Given the description of an element on the screen output the (x, y) to click on. 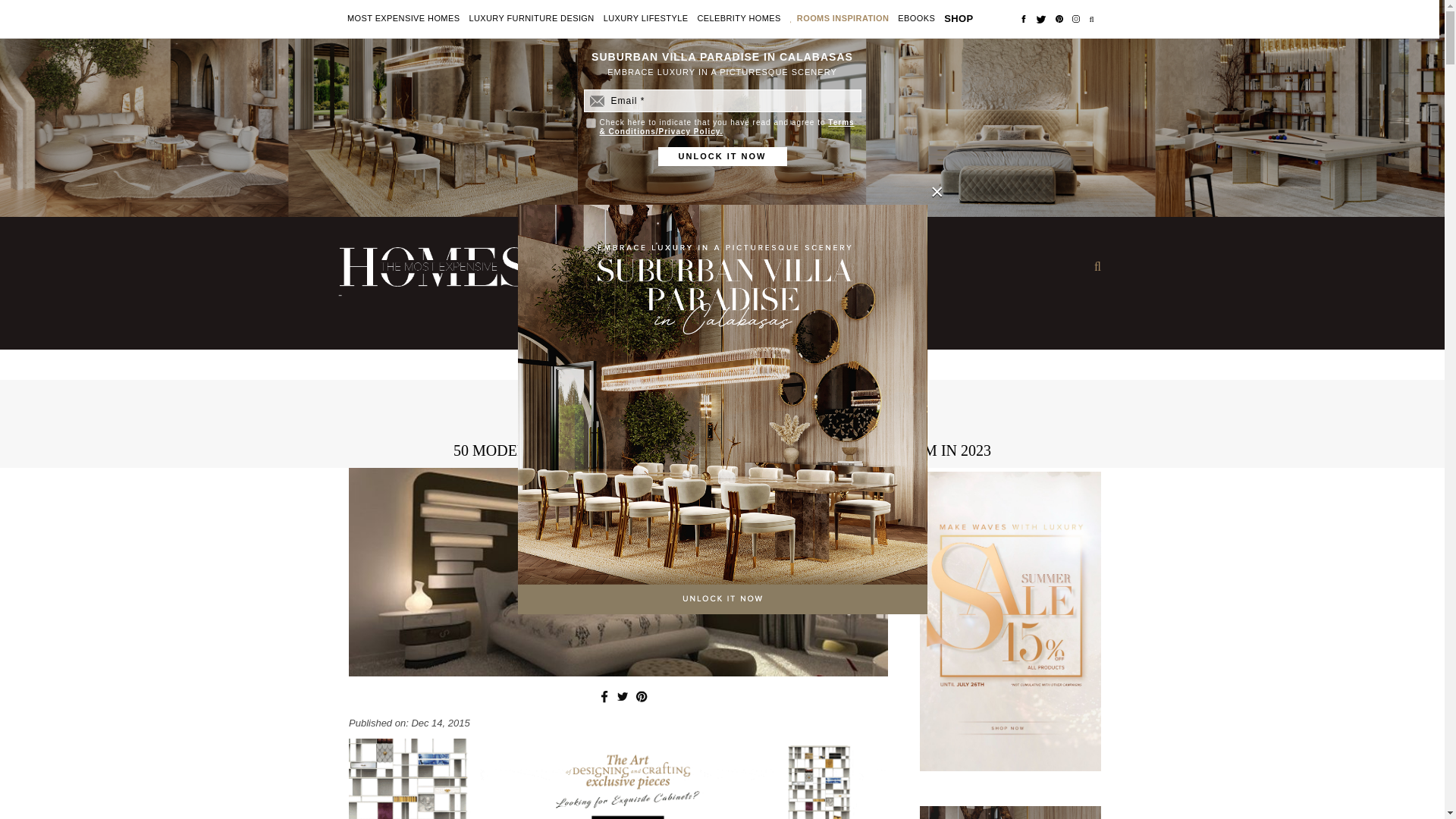
LUXURY LIFESTYLE (646, 19)
MOST EXPENSIVE HOMES (403, 19)
EBOOKS (916, 19)
SHOP (957, 18)
LUXURY FURNITURE DESIGN (531, 19)
on (590, 122)
UNLOCK IT NOW (722, 156)
ROOMS INSPIRATION (842, 19)
CELEBRITY HOMES (738, 19)
UNLOCK IT NOW (722, 156)
